Given the description of an element on the screen output the (x, y) to click on. 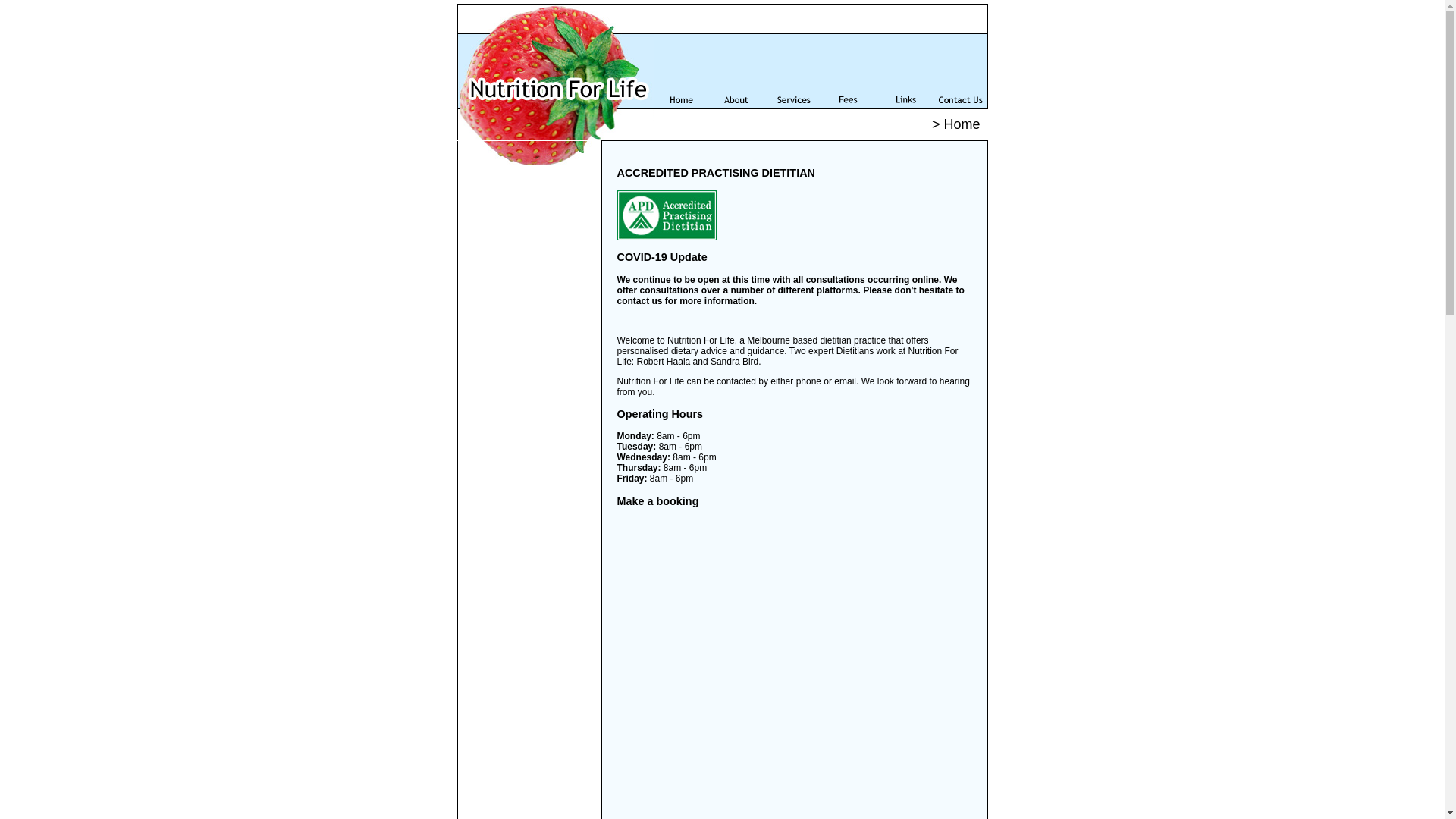
Fees Element type: hover (847, 71)
Home Element type: hover (681, 71)
Links Element type: hover (904, 71)
Services Element type: hover (792, 71)
About Element type: hover (737, 71)
Contact Element type: hover (960, 71)
